Given the description of an element on the screen output the (x, y) to click on. 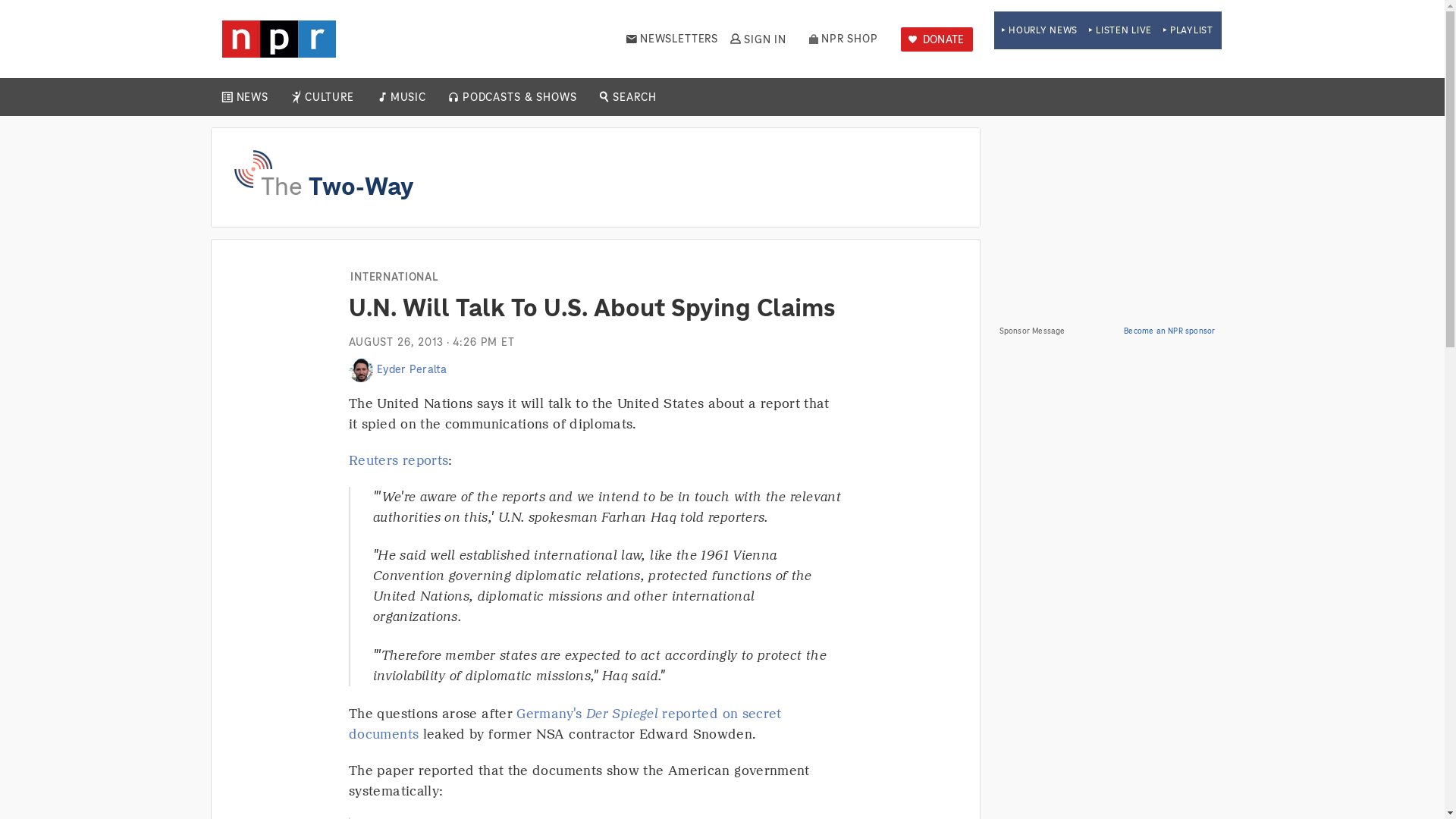
LISTEN LIVE (1120, 30)
MUSIC (407, 96)
NPR SHOP (843, 38)
DONATE (936, 39)
PLAYLIST (1187, 30)
SIGN IN (757, 38)
NEWS (251, 96)
CULTURE (328, 96)
NEWSLETTERS (671, 38)
HOURLY NEWS (1039, 30)
